Given the description of an element on the screen output the (x, y) to click on. 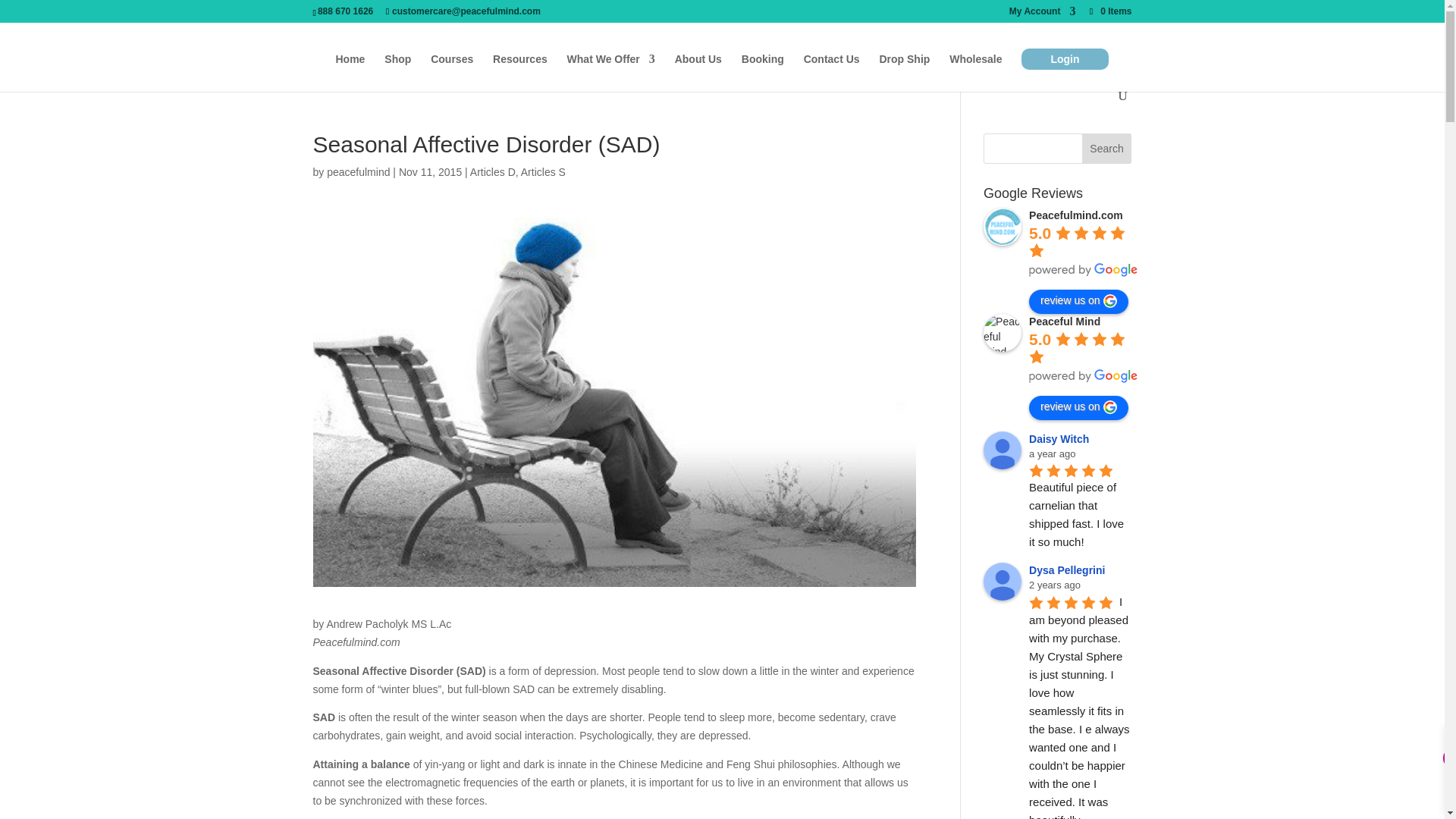
Home (349, 71)
Search (1106, 148)
My Account (1042, 14)
Daisy Witch (1003, 450)
Peaceful Mind (1003, 332)
Resources (520, 71)
powered by Google (1083, 269)
Shop (397, 71)
Posts by peacefulmind (358, 172)
Courses (451, 71)
What We Offer (611, 71)
Peacefulmind.com (1003, 226)
0 Items (1108, 10)
Dysa Pellegrini (1003, 581)
powered by Google (1083, 376)
